Given the description of an element on the screen output the (x, y) to click on. 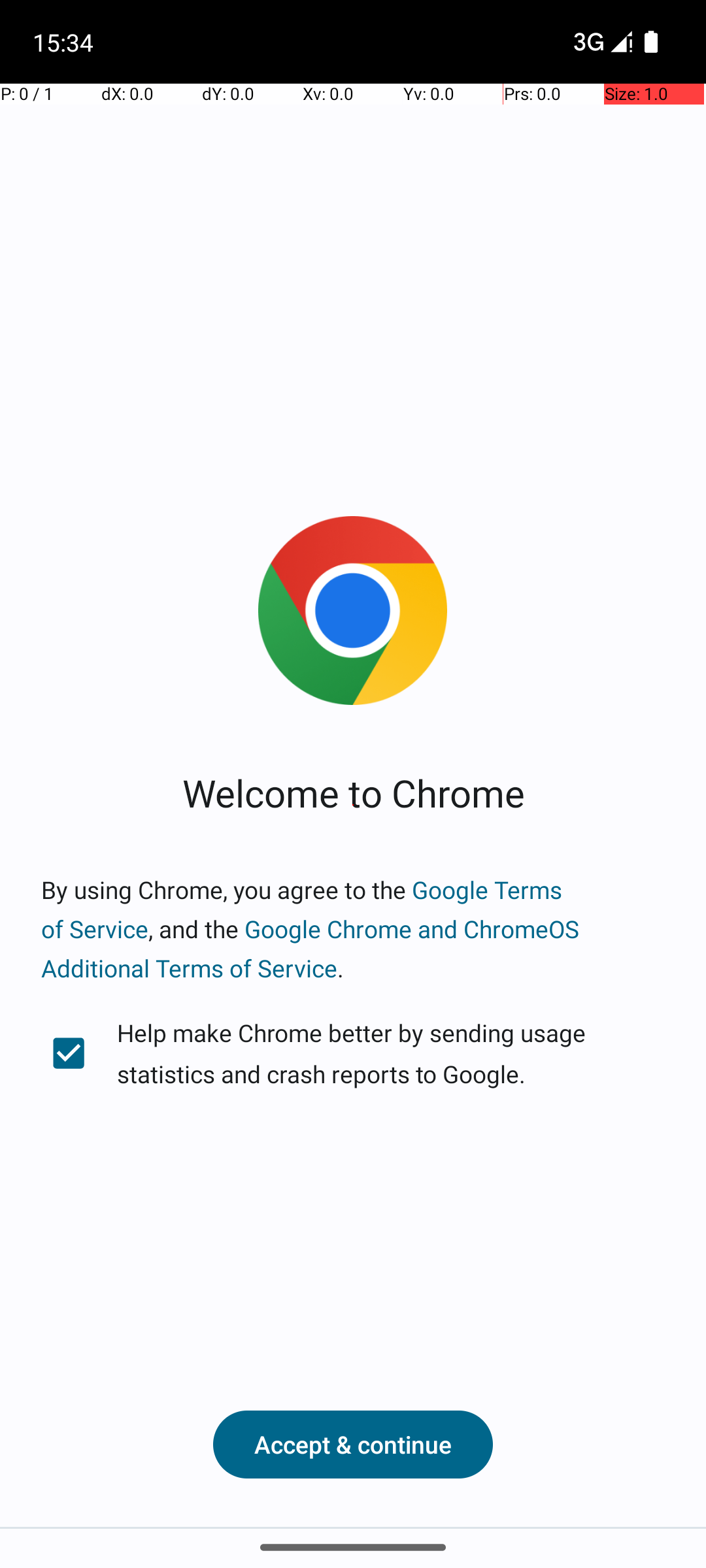
By using Chrome, you agree to the Google Terms of Service, and the Google Chrome and ChromeOS Additional Terms of Service. Element type: android.widget.TextView (352, 928)
Help make Chrome better by sending usage statistics and crash reports to Google. Element type: android.widget.CheckBox (352, 1053)
